Given the description of an element on the screen output the (x, y) to click on. 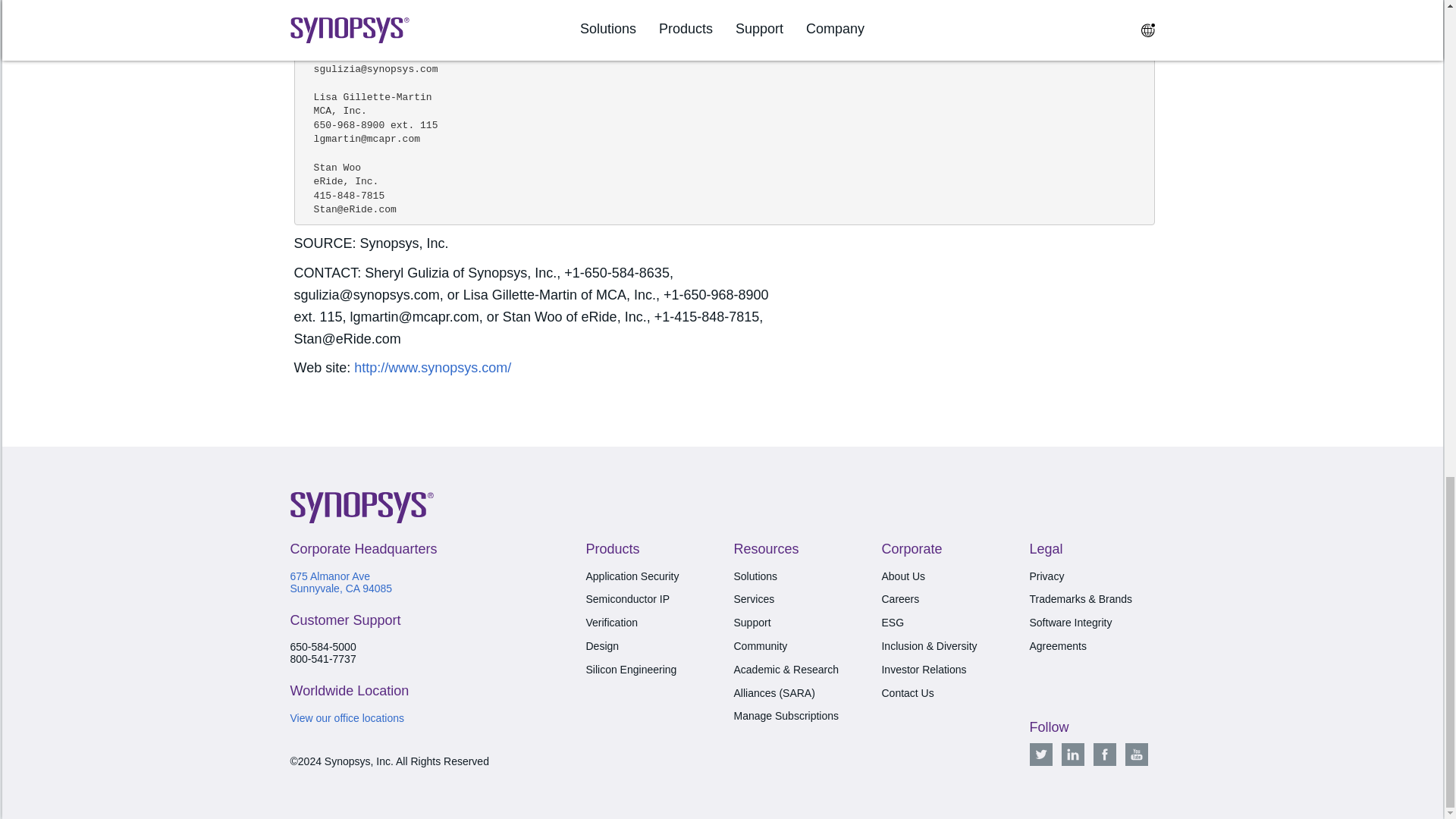
Linkedin (1072, 753)
Twitter (1040, 753)
Facebook (1104, 753)
